Given the description of an element on the screen output the (x, y) to click on. 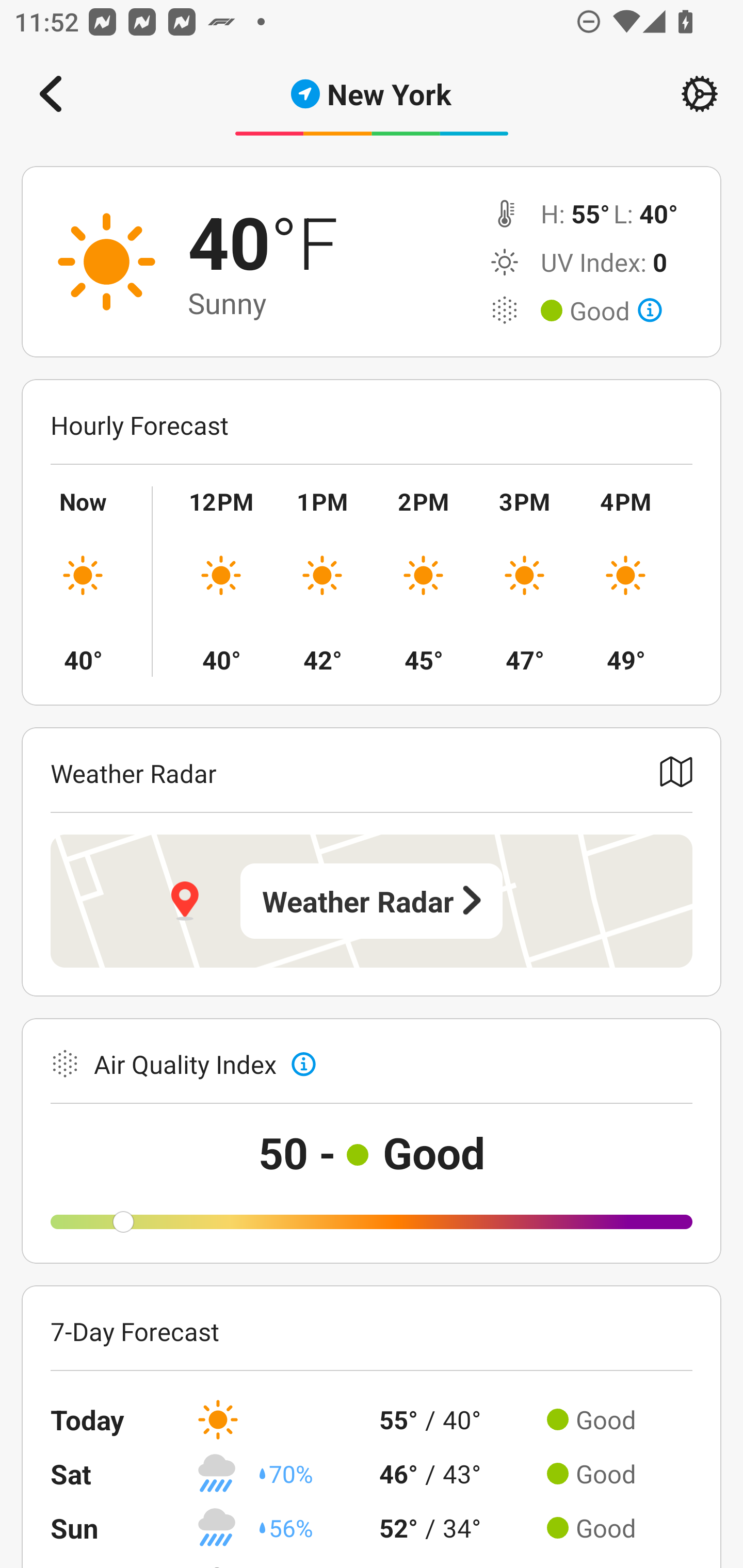
Navigate up (50, 93)
Setting (699, 93)
Good (615, 310)
Weather Radar (371, 900)
